Given the description of an element on the screen output the (x, y) to click on. 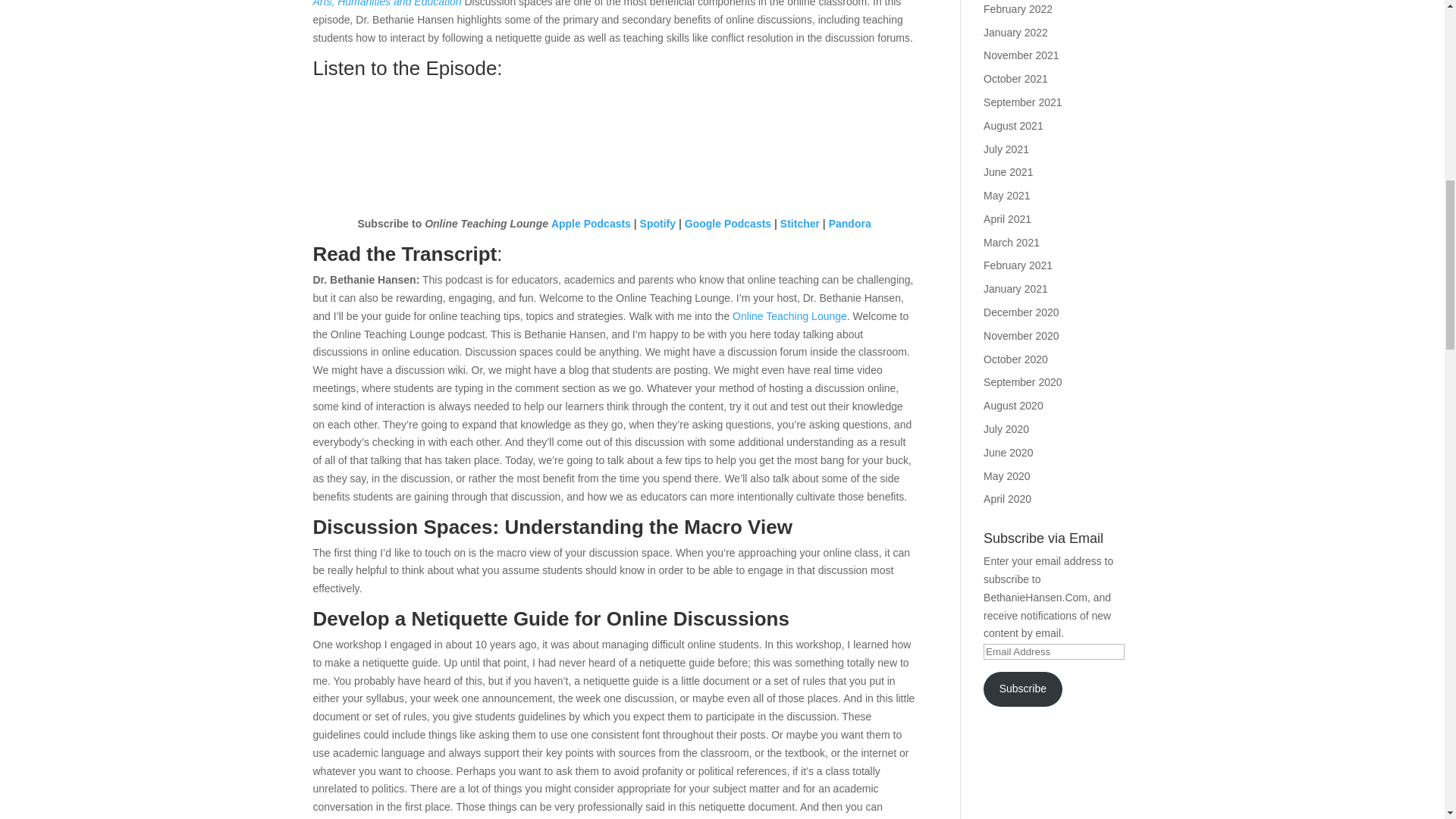
Blubrry Podcast Player (614, 142)
Pandora (849, 223)
Apple Podcasts (590, 223)
Spotify (657, 223)
Online Teaching Lounge (789, 316)
Stitcher (799, 223)
School of Arts, Humanities and Education (614, 3)
Google Podcasts (727, 223)
